Given the description of an element on the screen output the (x, y) to click on. 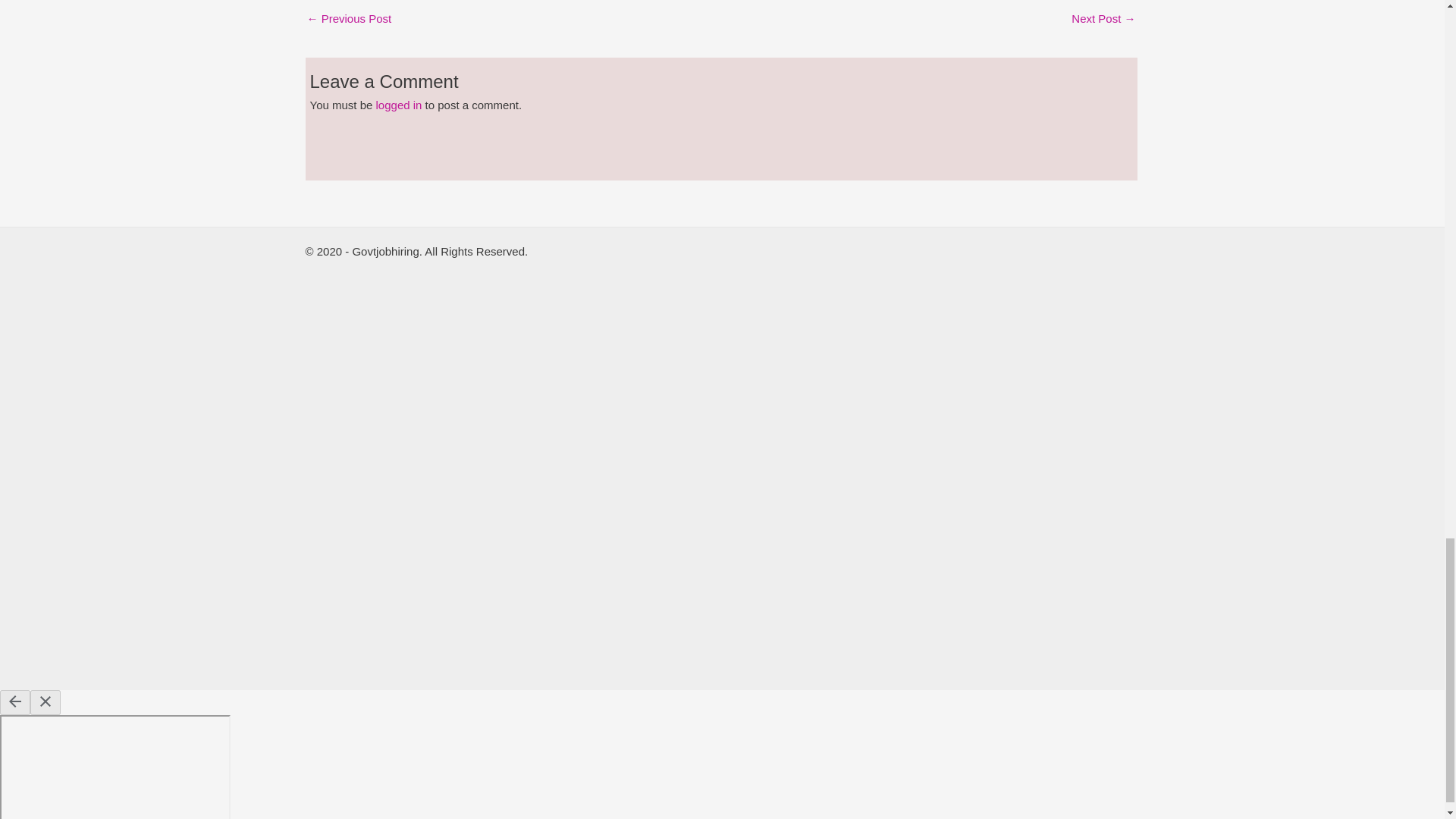
logged in (398, 104)
DMCA.com Protection Status (503, 459)
